Given the description of an element on the screen output the (x, y) to click on. 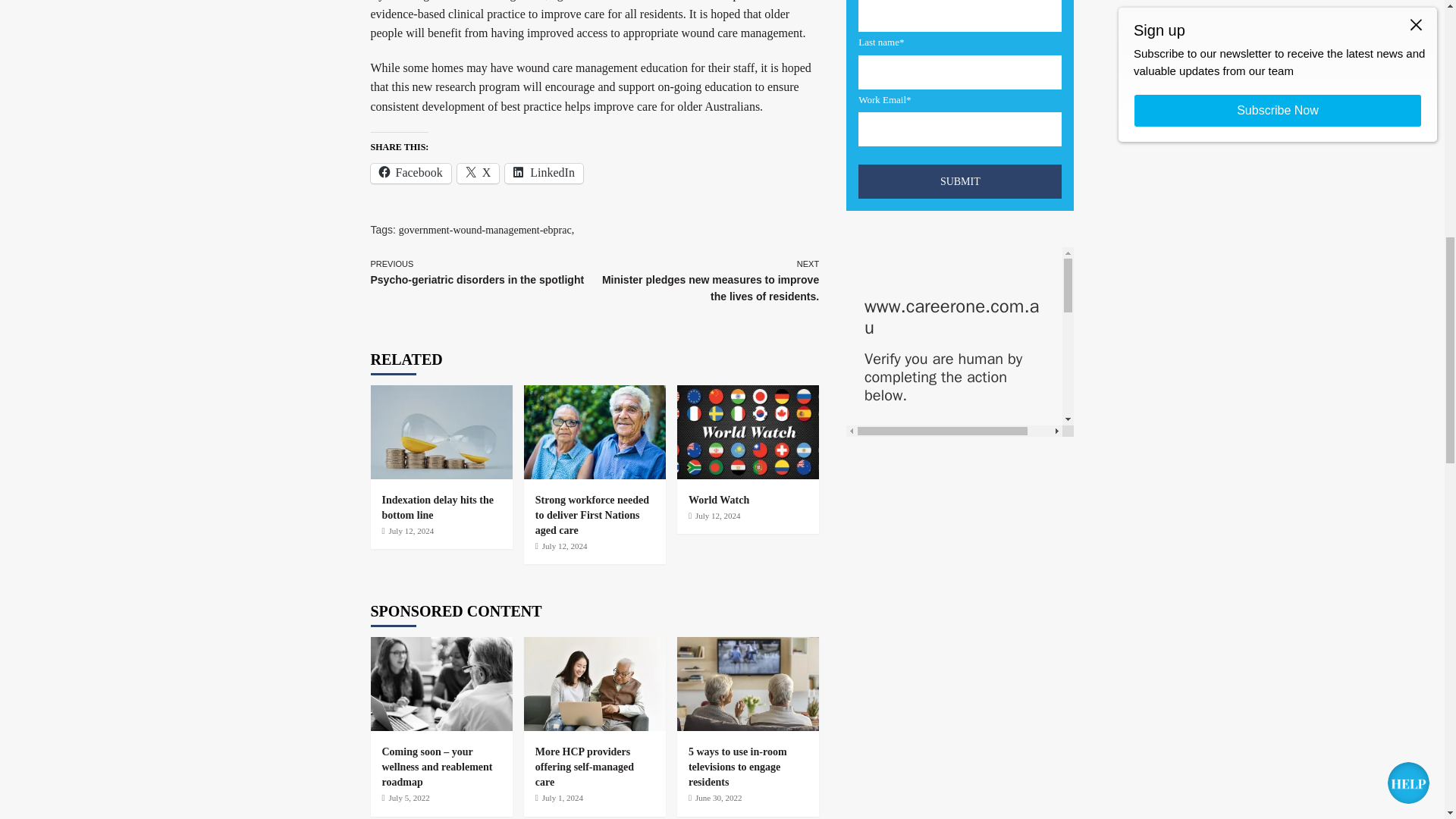
July 12, 2024 (410, 530)
government-wound-management-ebprac, (485, 229)
X (478, 173)
Click to share on LinkedIn (544, 173)
Indexation delay hits the bottom line (437, 507)
Submit (960, 181)
Click to share on X (478, 173)
LinkedIn (481, 272)
Click to share on Facebook (544, 173)
Facebook (409, 173)
